Given the description of an element on the screen output the (x, y) to click on. 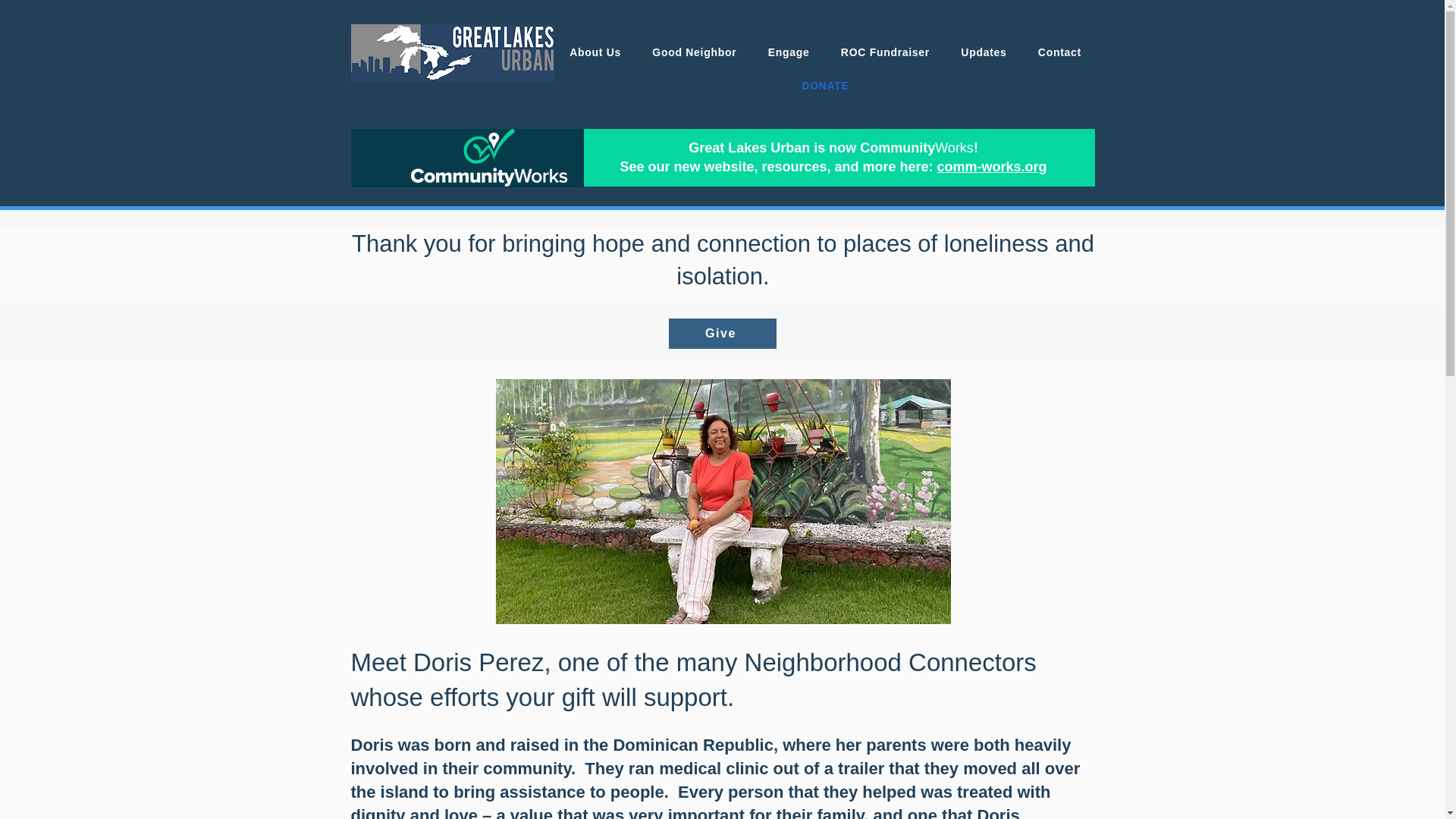
comm-works.org (991, 166)
Contact (1059, 52)
Good Neighbor (694, 52)
Updates (984, 52)
DONATE (824, 85)
Give (722, 333)
ROC Fundraiser (885, 52)
